Given the description of an element on the screen output the (x, y) to click on. 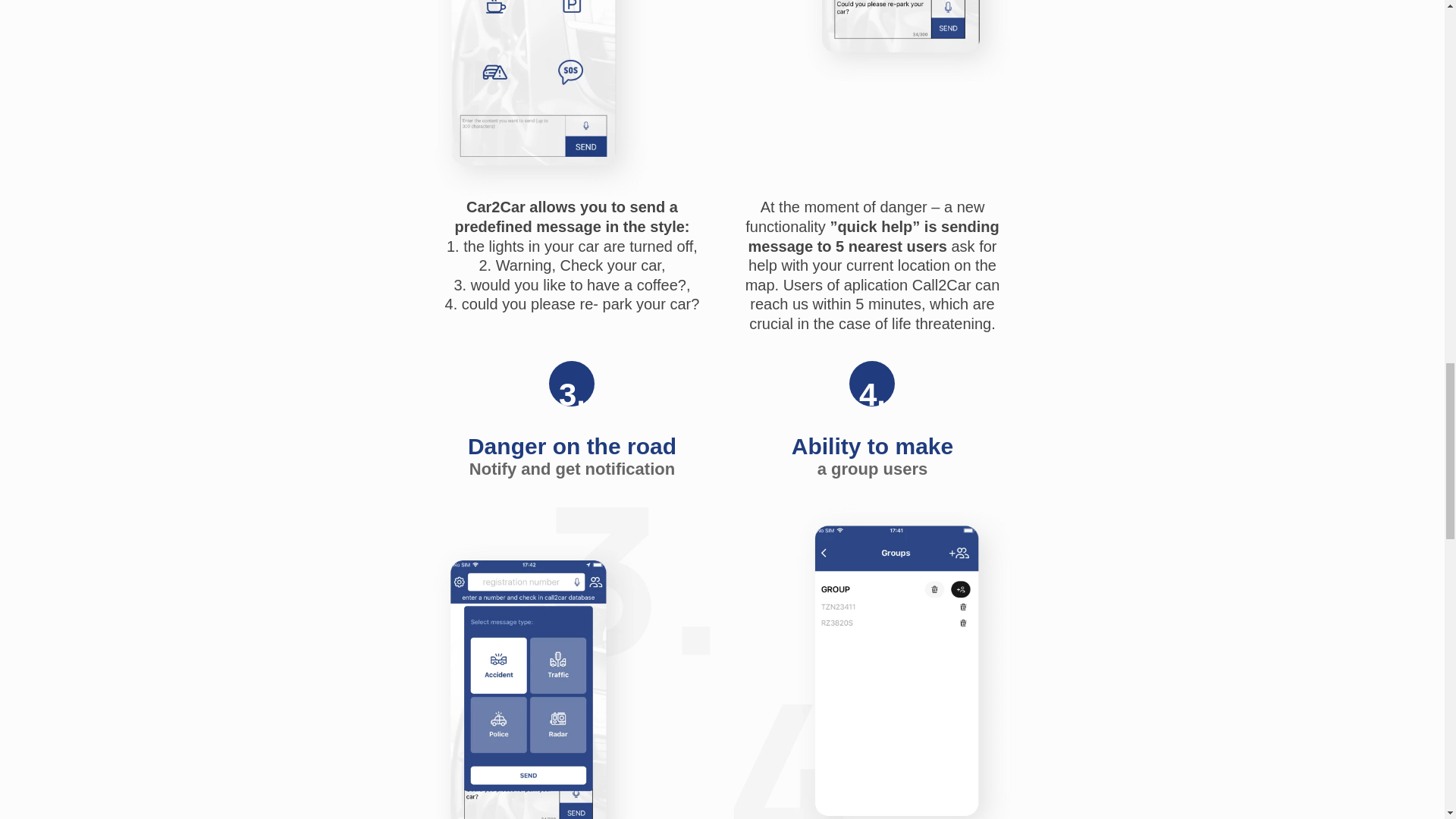
Group 11 (571, 99)
Group 7 (871, 662)
Group 5 (571, 662)
